Given the description of an element on the screen output the (x, y) to click on. 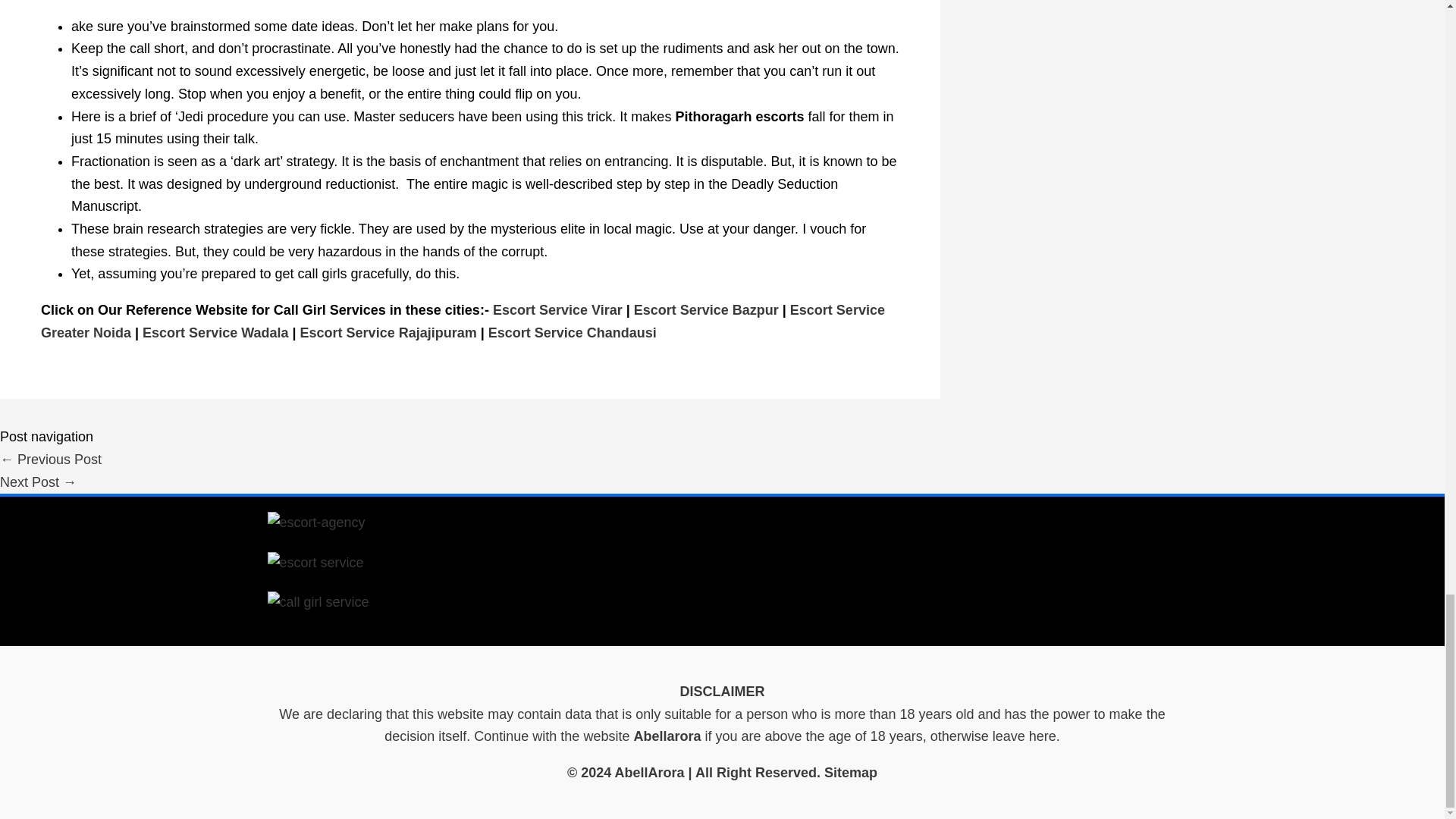
Escort Service Wadala (215, 332)
Escort Service Bazpur (705, 309)
Escort Service Chandausi (571, 332)
Sitemap (850, 772)
Escort Service Rajajipuram (388, 332)
Escort Service Greater Noida (462, 321)
Escort Service Virar (558, 309)
